Given the description of an element on the screen output the (x, y) to click on. 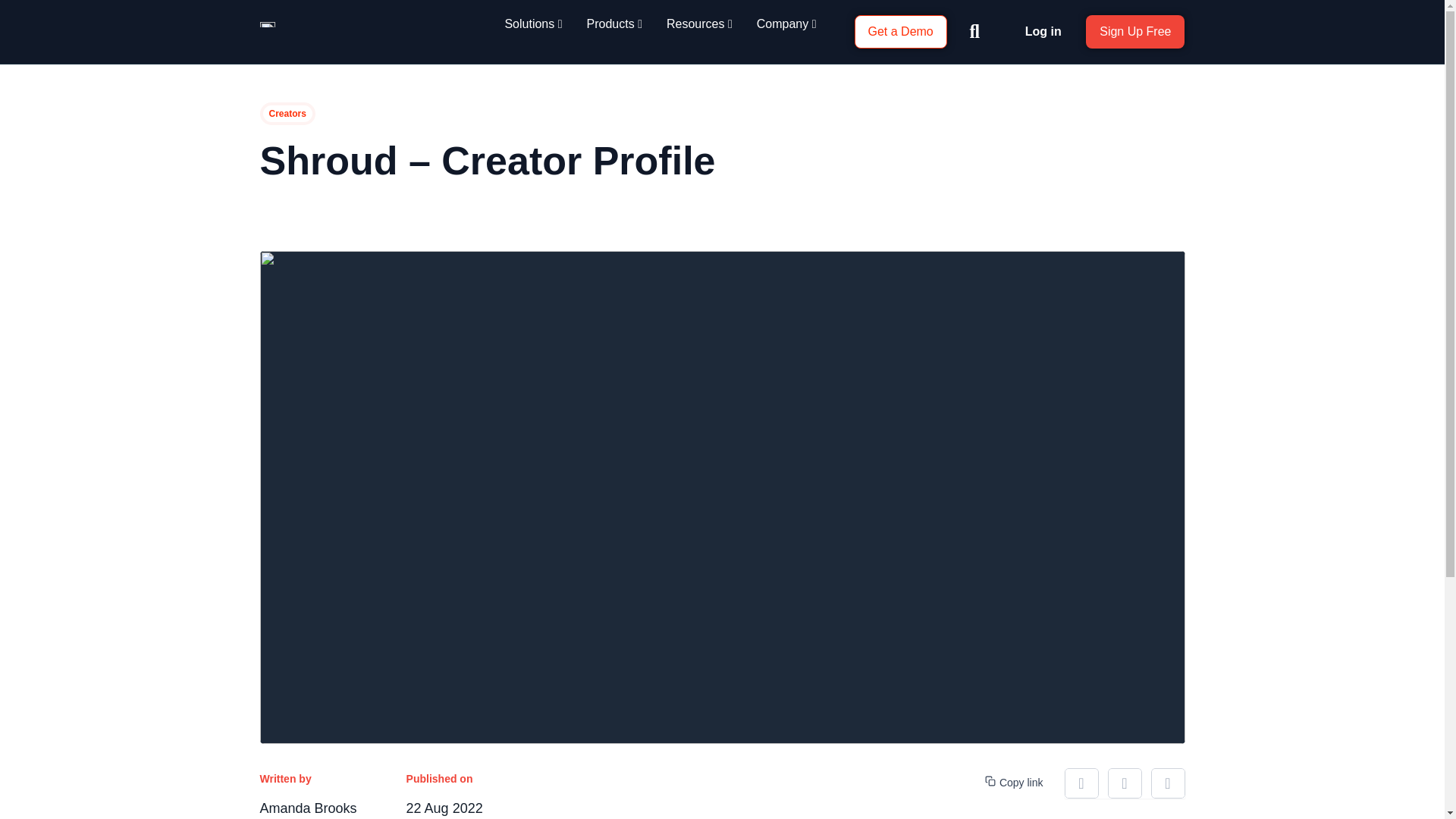
Resources (699, 24)
Company (786, 24)
Sign Up Free (1135, 31)
Solutions (532, 24)
Products (614, 24)
Get a Demo (899, 31)
Log in (1043, 31)
